Given the description of an element on the screen output the (x, y) to click on. 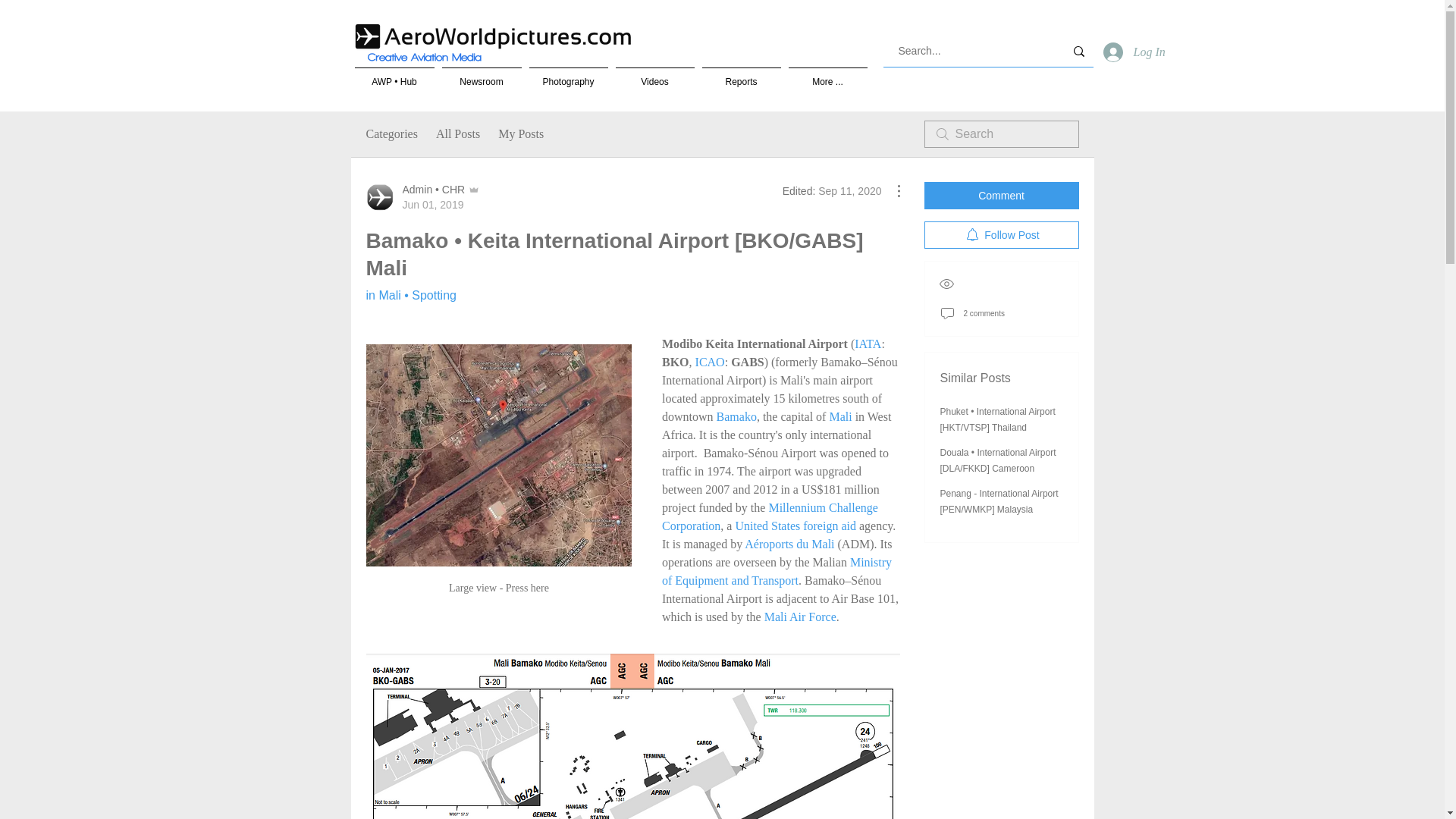
Photography (567, 74)
All Posts (457, 134)
Large view - Press here (497, 476)
IATA (867, 343)
My Posts (520, 134)
Categories (390, 134)
Log In (1126, 51)
Videos (654, 74)
Newsroom (481, 74)
